Given the description of an element on the screen output the (x, y) to click on. 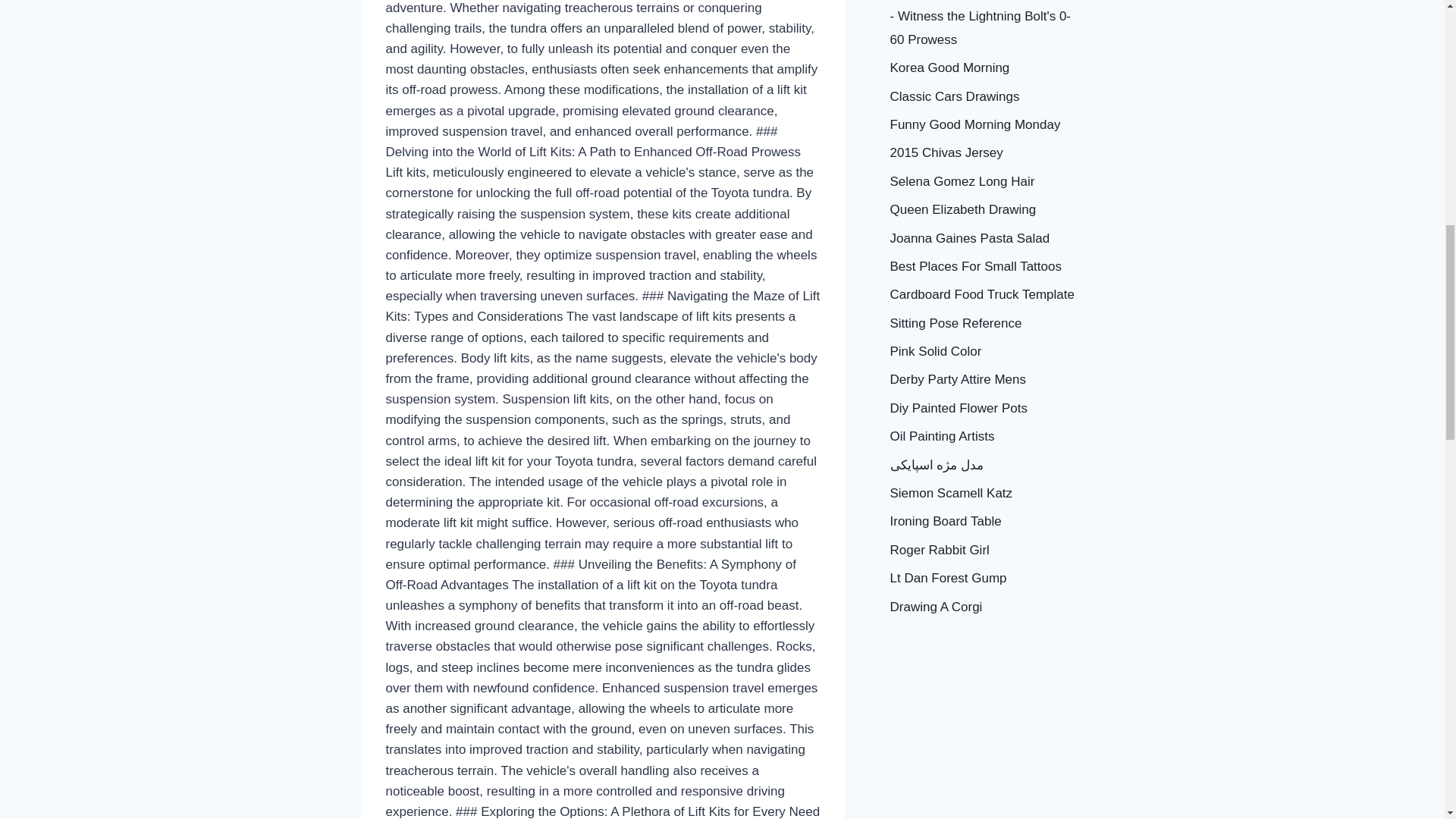
Best Places For Small Tattoos (975, 266)
Classic Cars Drawings (954, 96)
Queen Elizabeth Drawing (962, 209)
Drawing A Corgi (935, 606)
Korea Good Morning (949, 67)
Oil Painting Artists (941, 436)
Derby Party Attire Mens (957, 379)
Diy Painted Flower Pots (958, 408)
Lt Dan Forest Gump (948, 577)
Pink Solid Color (935, 350)
Siemon Scamell Katz (951, 493)
Cardboard Food Truck Template (981, 294)
Selena Gomez Long Hair (962, 181)
Sitting Pose Reference (955, 323)
